Given the description of an element on the screen output the (x, y) to click on. 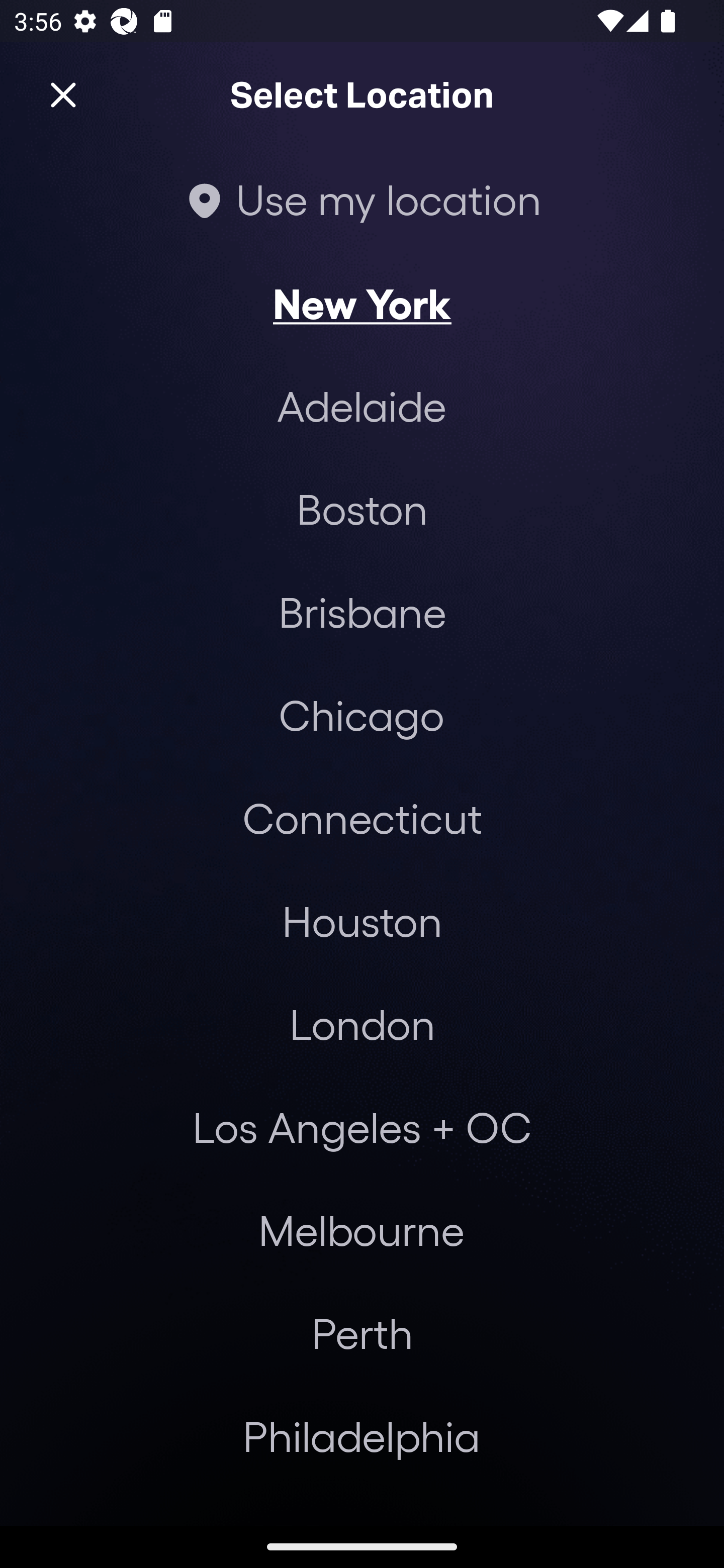
Close (62, 95)
   Use my location (362, 198)
New York (361, 302)
Adelaide (361, 405)
Boston (361, 508)
Brisbane (361, 611)
Chicago (361, 714)
Connecticut (361, 817)
Houston (361, 920)
London (361, 1023)
Los Angeles + OC (361, 1127)
Melbourne (361, 1230)
Perth (361, 1332)
Philadelphia (361, 1436)
